Given the description of an element on the screen output the (x, y) to click on. 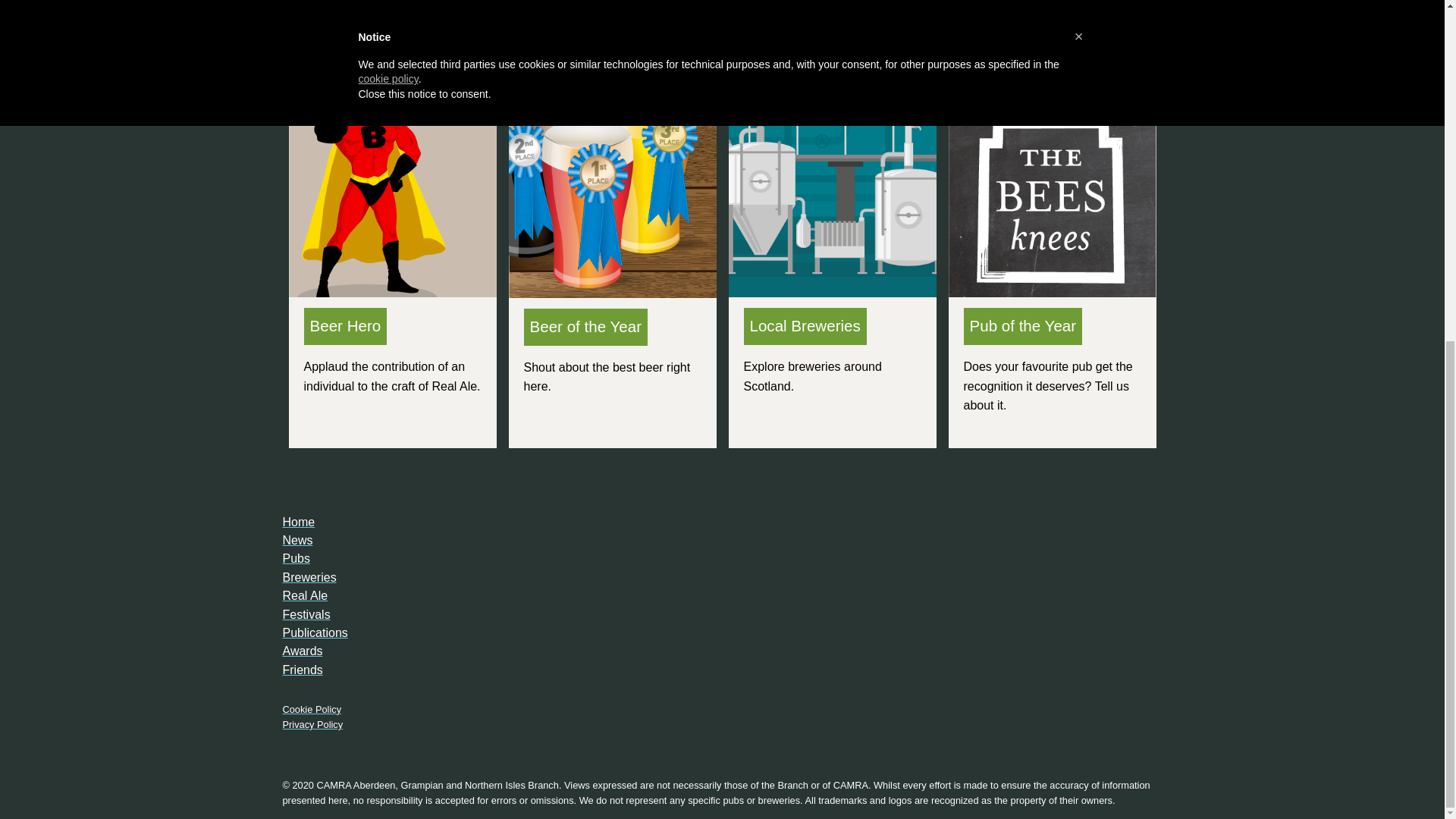
Awards in Aberdeen and North East Scotland (301, 650)
Links to related organisations and CAMRA branches. (301, 669)
